Given the description of an element on the screen output the (x, y) to click on. 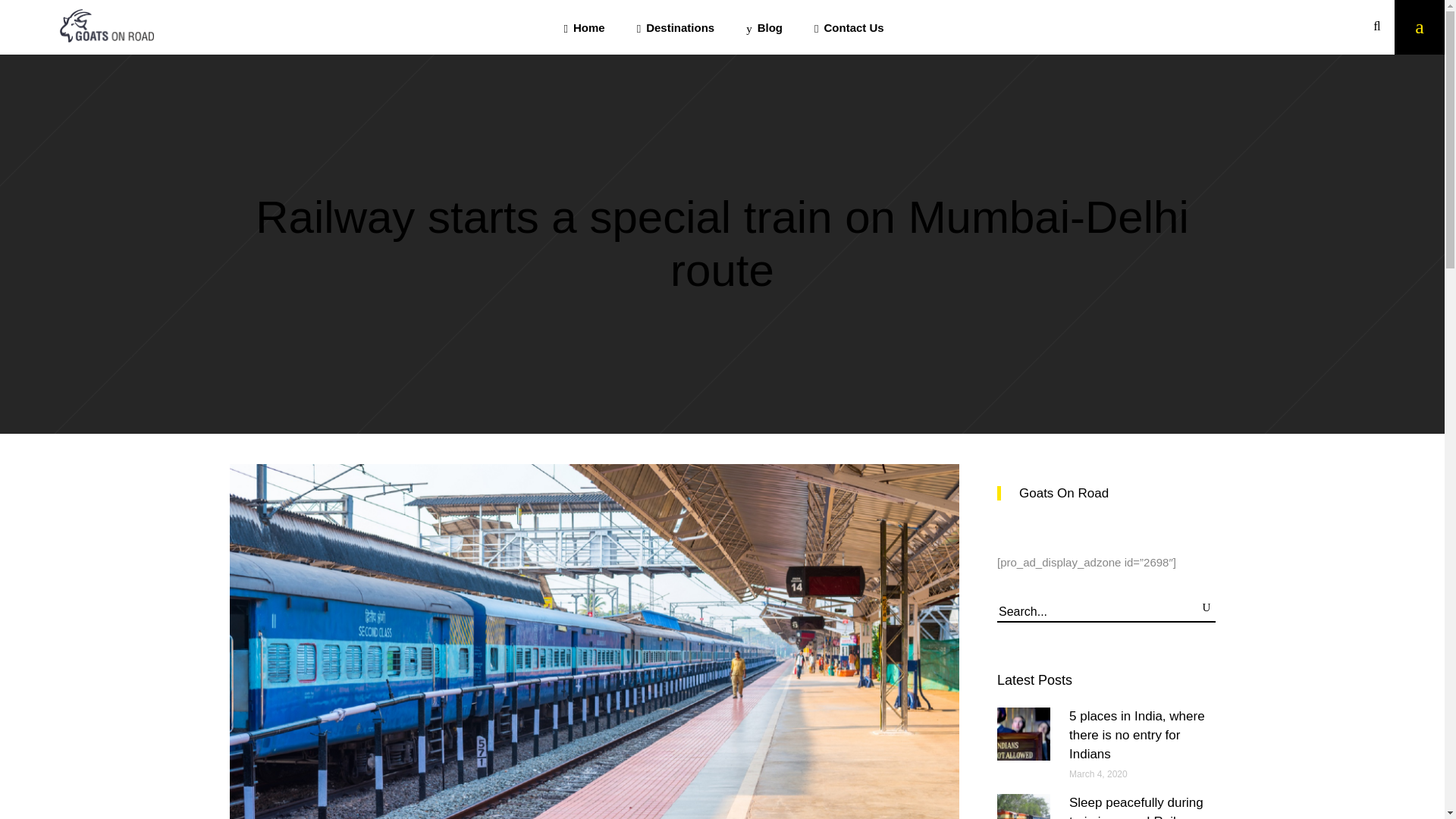
Blog (763, 27)
Home (583, 27)
Destinations (675, 27)
Contact Us (848, 27)
